Given the description of an element on the screen output the (x, y) to click on. 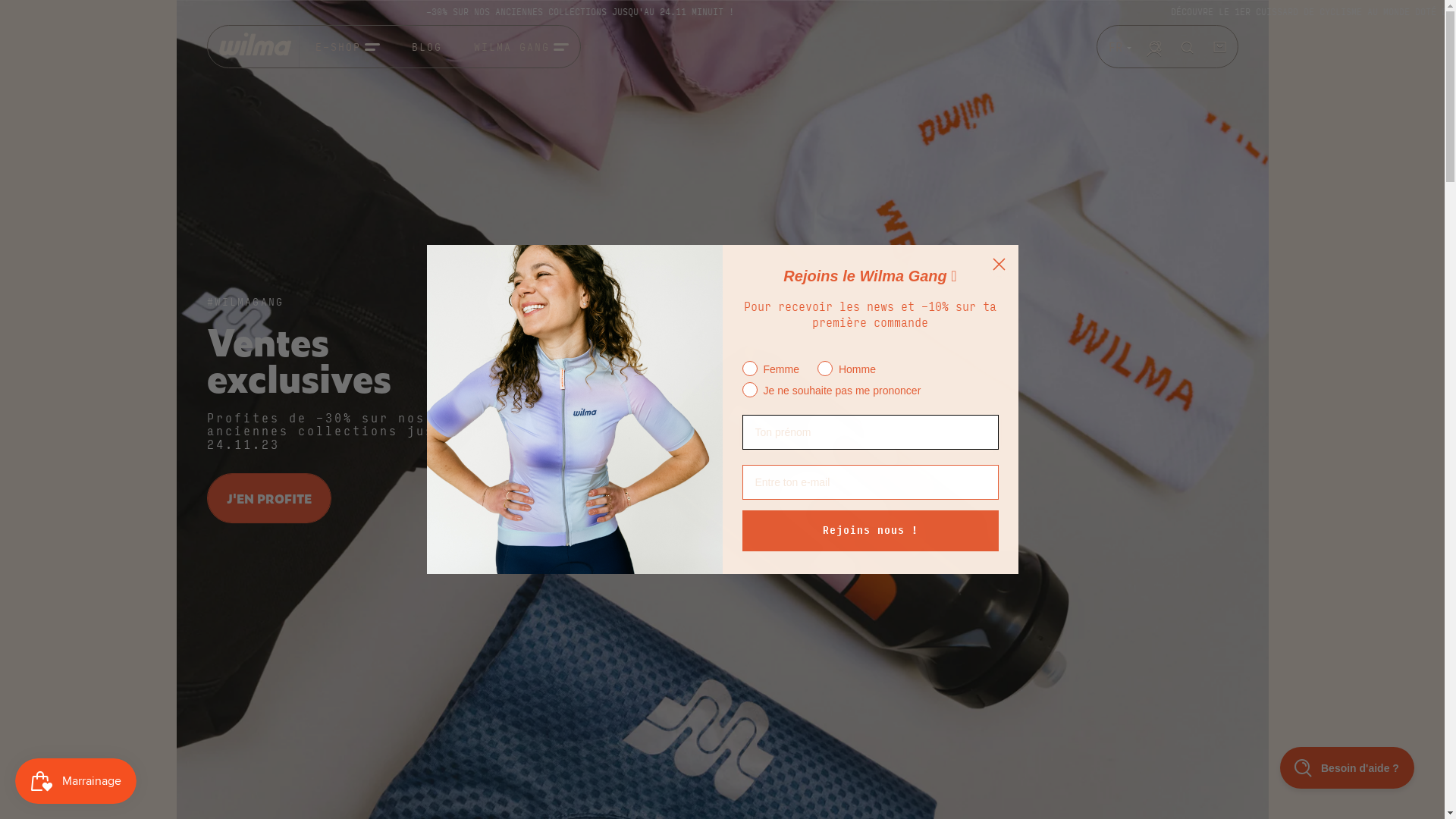
WILMA GANG Element type: text (520, 45)
Help Scout Beacon - Open Element type: hover (1347, 767)
J'EN PROFITE Element type: text (268, 498)
Rejoins nous ! Element type: text (869, 530)
BLOG
BLOG Element type: text (426, 45)
Smile.io Rewards Program Launcher Element type: hover (75, 780)
E-SHOP Element type: text (347, 45)
Submit Element type: text (20, 7)
-30% SUR NOS ANCIENNES COLLECTIONS JUSQU'AU 24.11 MINUIT ! Element type: text (996, 10)
